Given the description of an element on the screen output the (x, y) to click on. 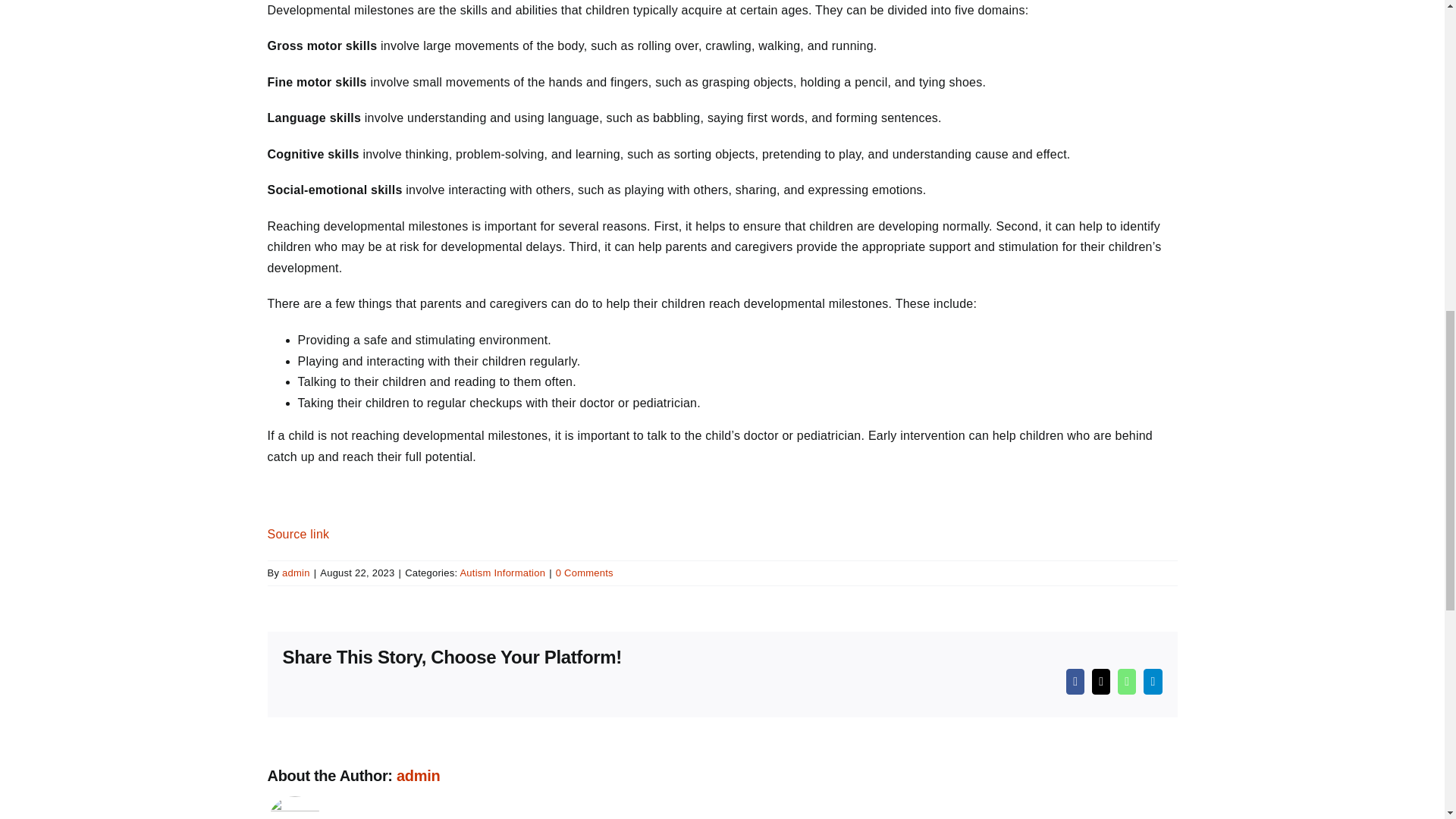
admin (296, 572)
Posts by admin (417, 775)
Posts by admin (296, 572)
Autism Information (502, 572)
admin (417, 775)
Source link (297, 533)
0 Comments (584, 572)
